Given the description of an element on the screen output the (x, y) to click on. 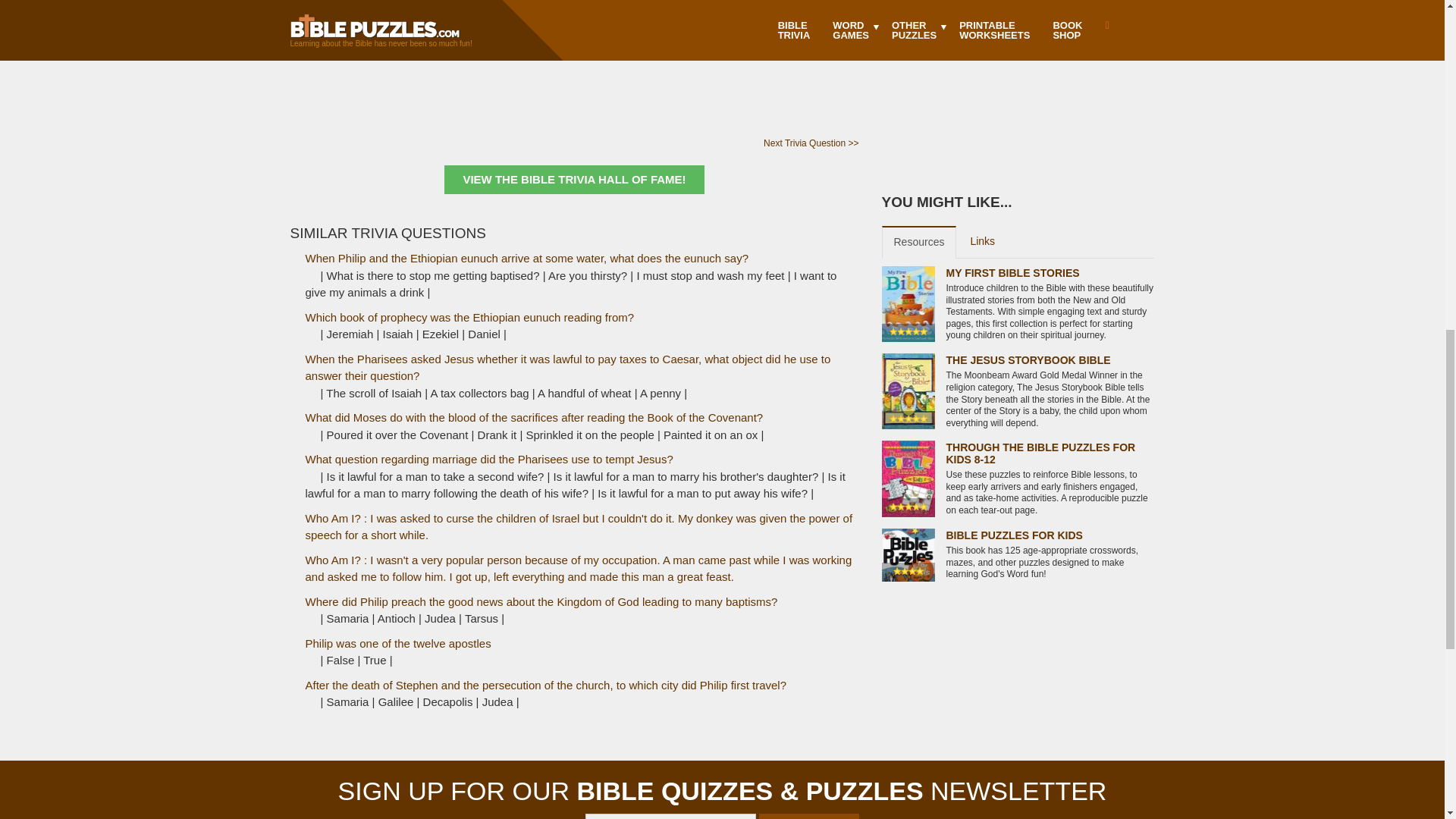
Resources (918, 242)
VIEW THE BIBLE TRIVIA HALL OF FAME! (573, 179)
Philip was one of the twelve apostles (397, 643)
Advertisement (573, 41)
Advertisement (1017, 78)
Links (982, 241)
